Given the description of an element on the screen output the (x, y) to click on. 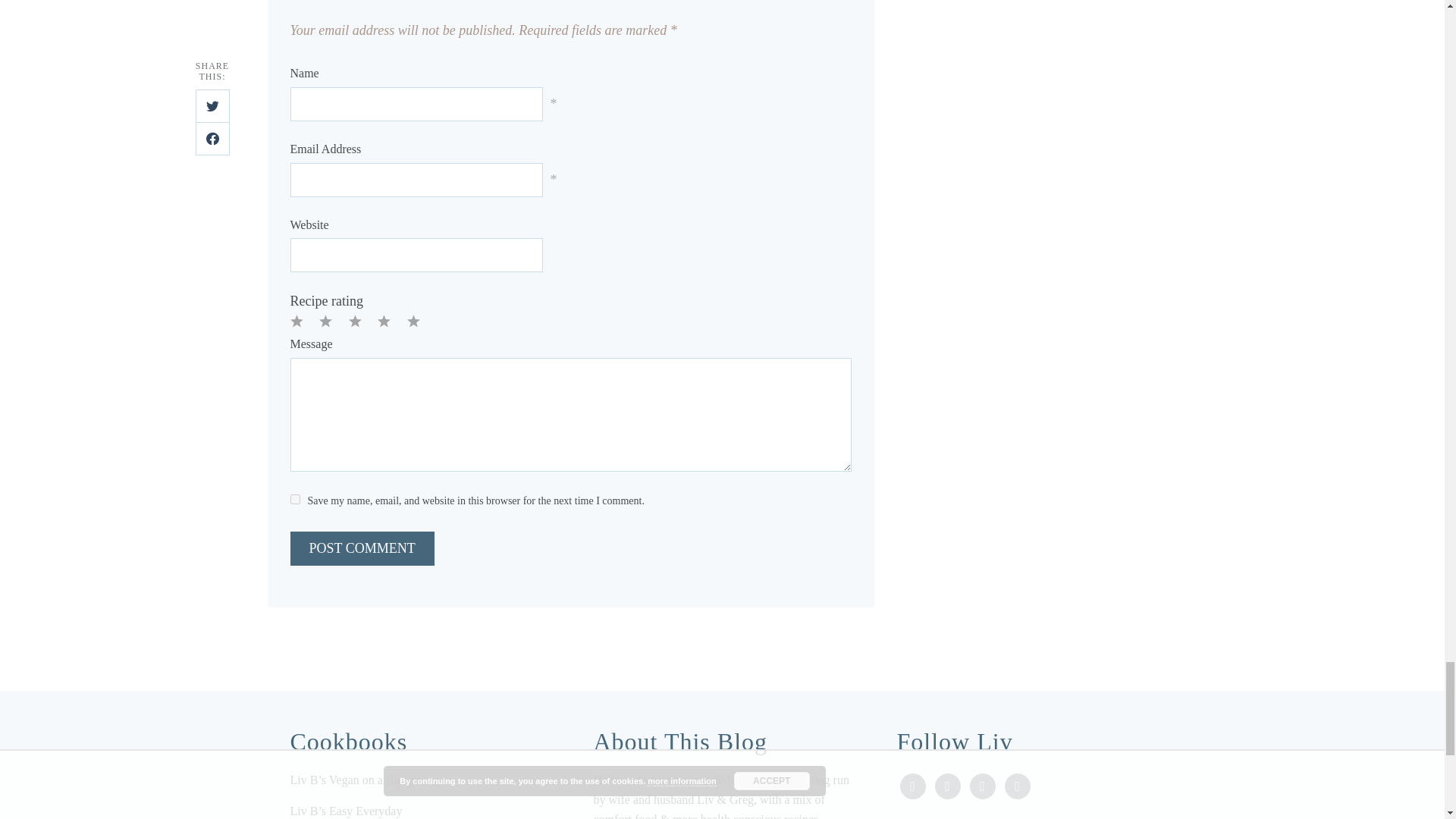
Post Comment (361, 548)
yes (294, 499)
